Given the description of an element on the screen output the (x, y) to click on. 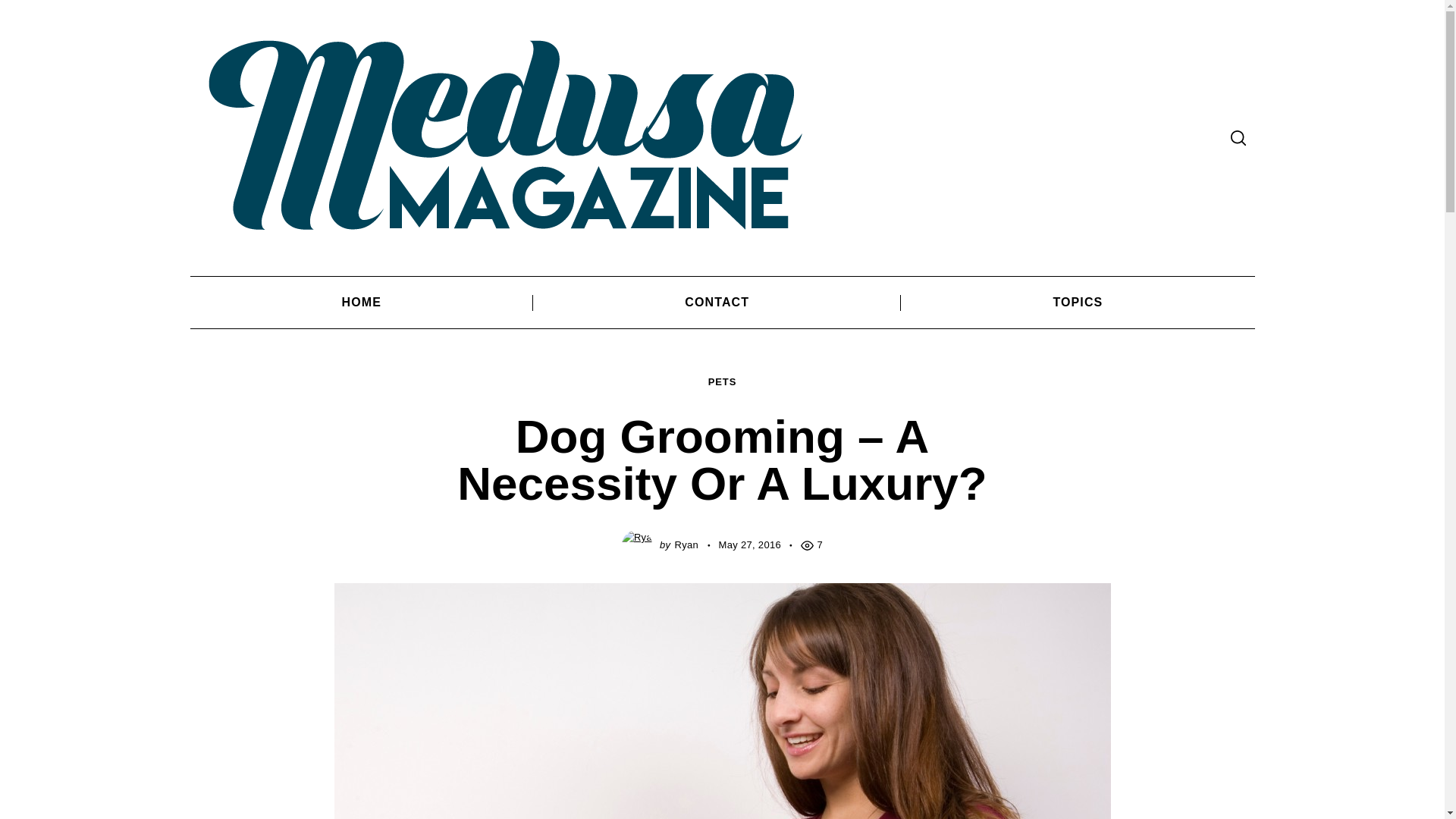
CONTACT (716, 302)
HOME (360, 302)
PETS (721, 382)
Ryan (686, 544)
TOPICS (1077, 302)
